Given the description of an element on the screen output the (x, y) to click on. 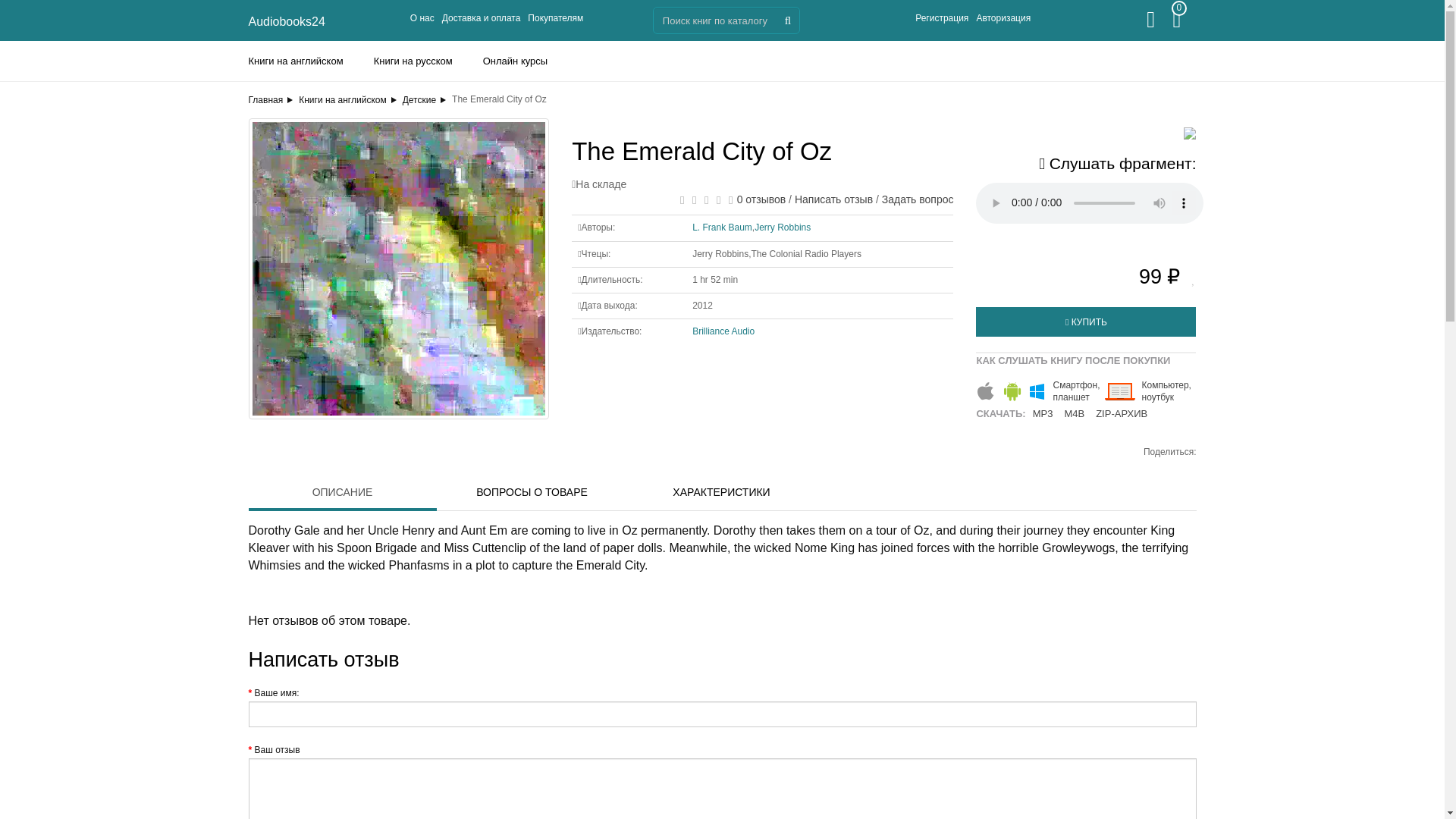
0 (1184, 23)
The Emerald City of Oz (397, 268)
Audiobooks24 (286, 21)
The Emerald City of Oz (399, 268)
